Given the description of an element on the screen output the (x, y) to click on. 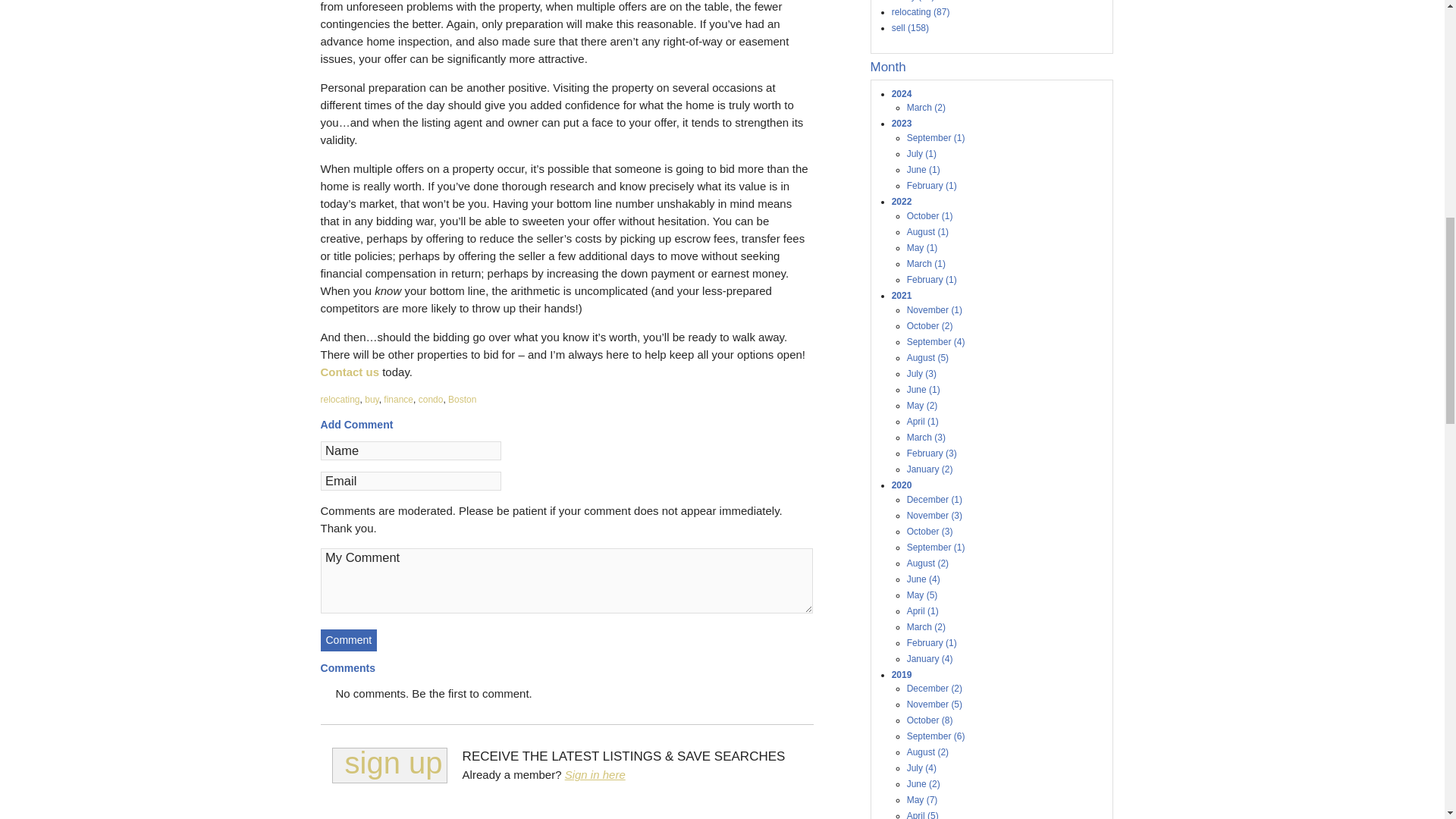
Sign in here  (595, 774)
Comment (348, 640)
sign up (388, 764)
